Given the description of an element on the screen output the (x, y) to click on. 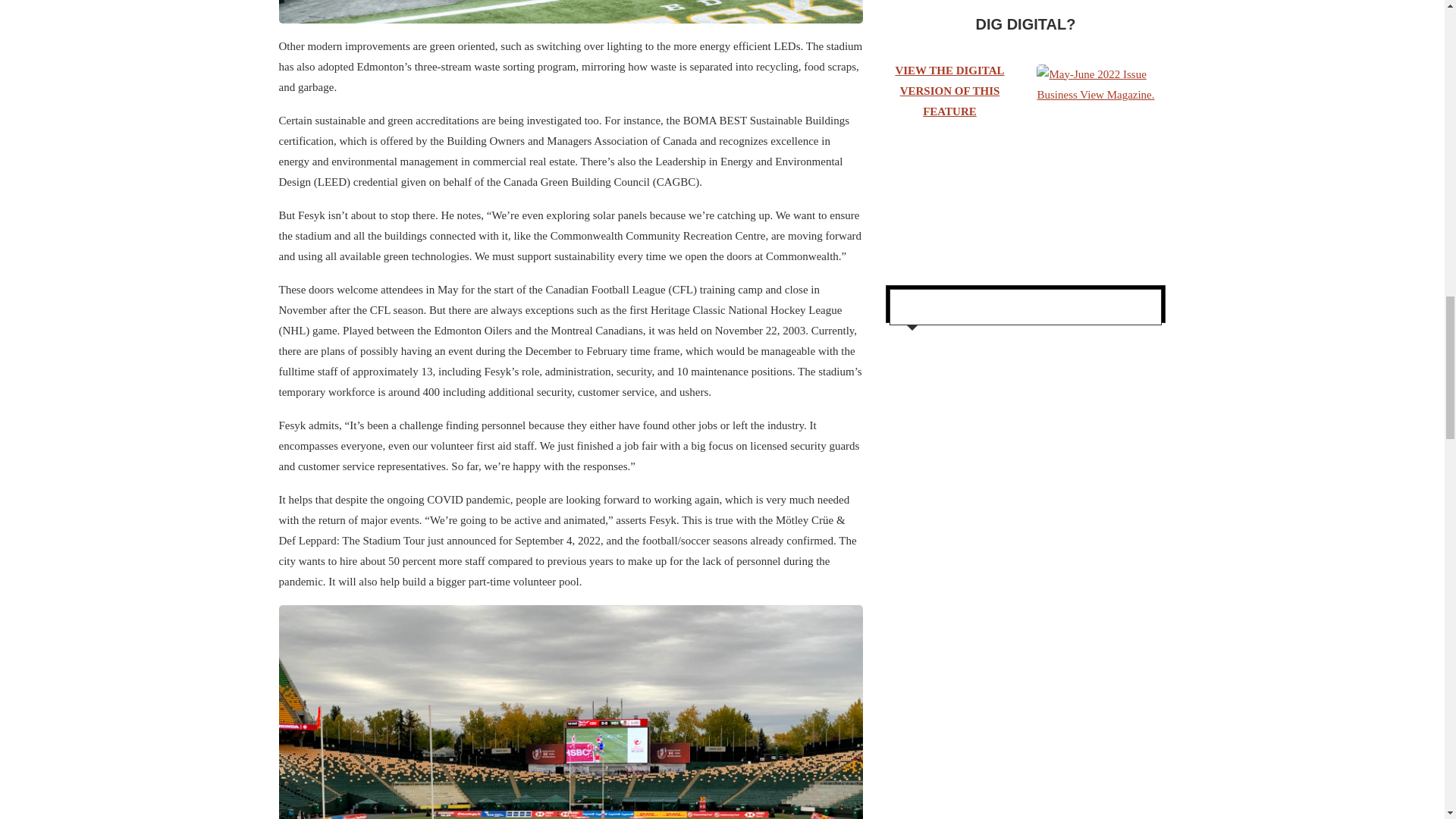
VIEW THE DIGITAL VERSION OF THIS FEATURE (949, 90)
LATEST ISSUE (955, 307)
